Given the description of an element on the screen output the (x, y) to click on. 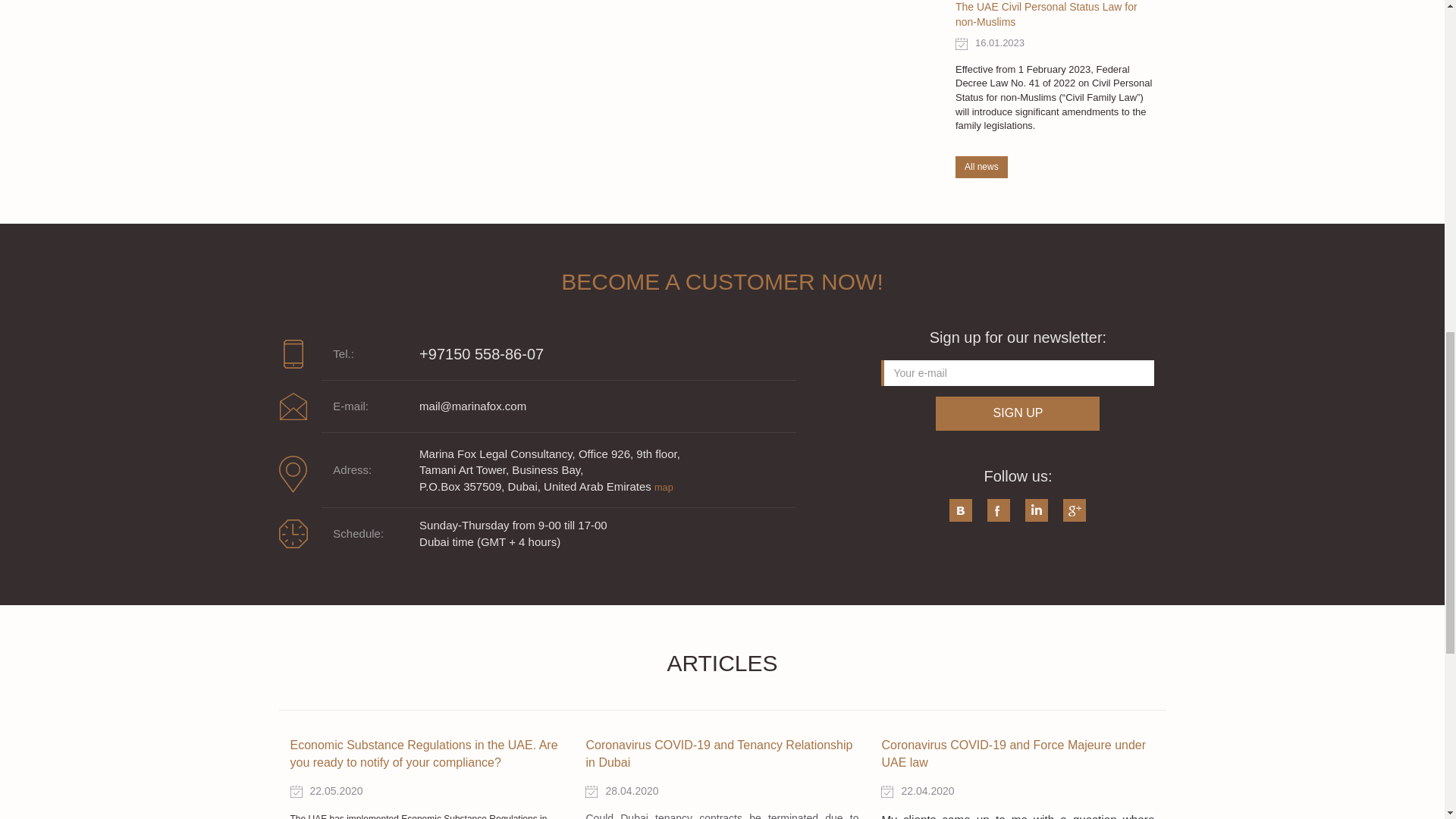
map (662, 487)
SIGN UP (1017, 413)
All news (981, 167)
